Given the description of an element on the screen output the (x, y) to click on. 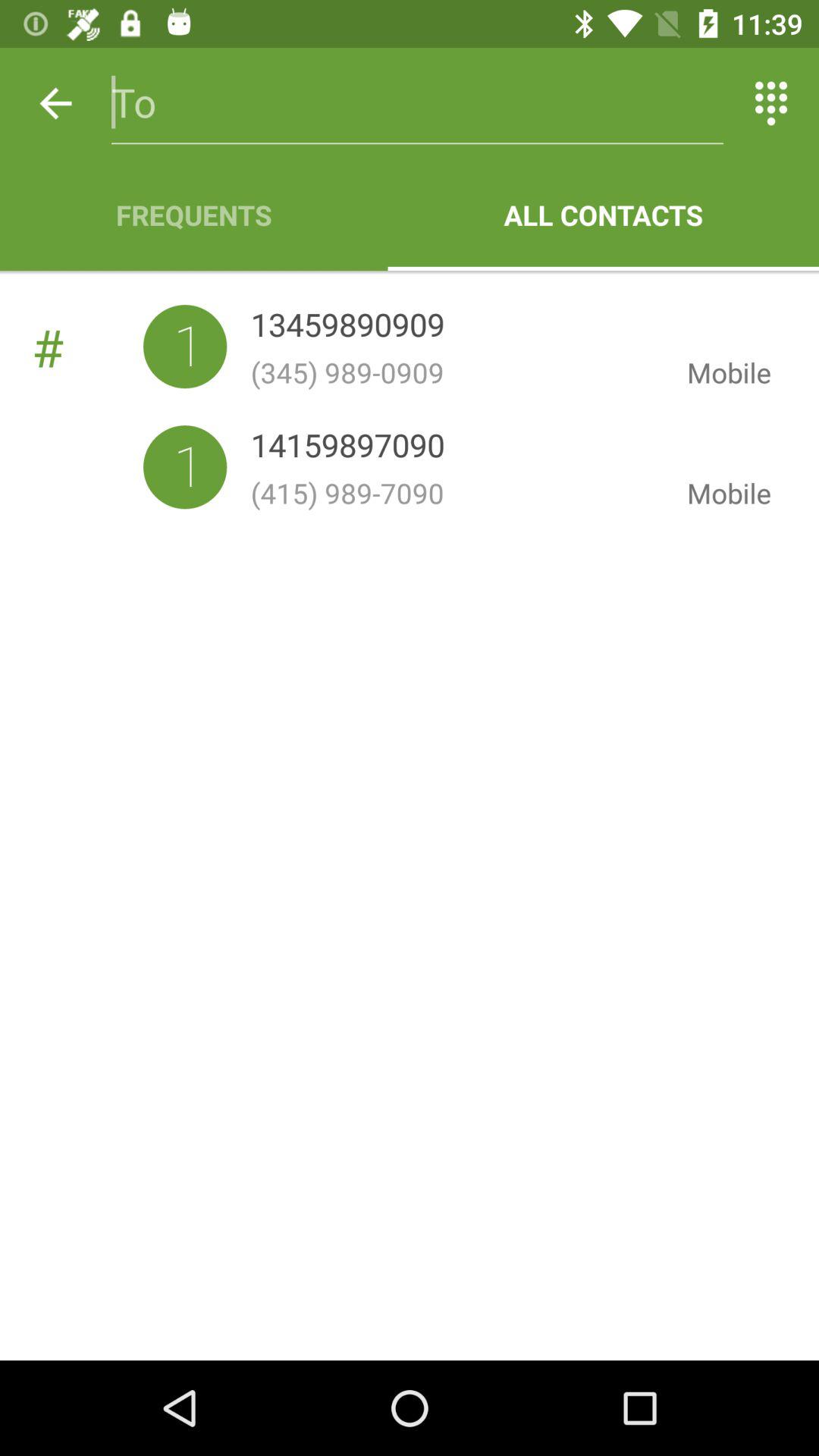
launch icon to the left of the mobile item (456, 372)
